Given the description of an element on the screen output the (x, y) to click on. 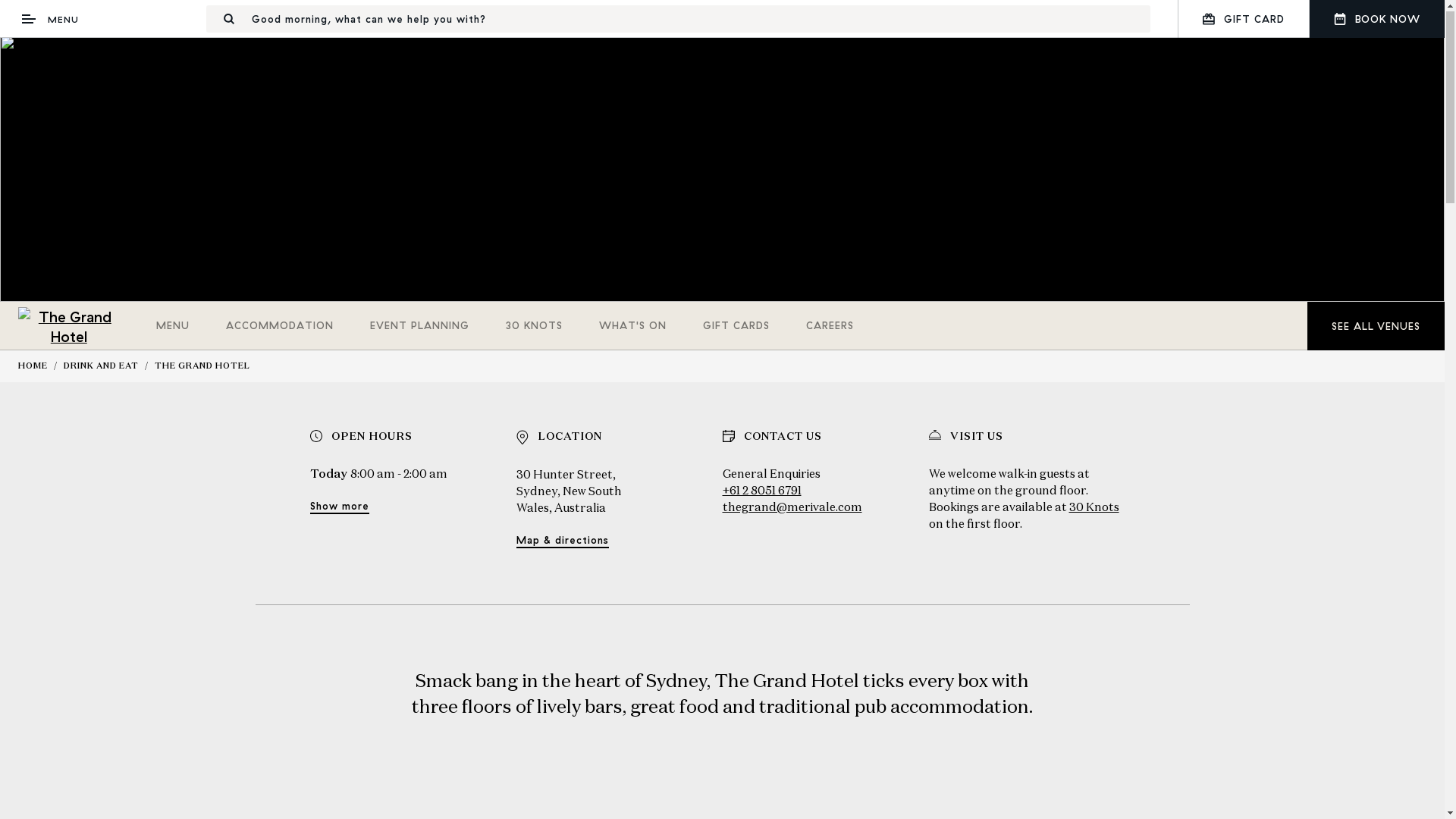
CAREERS Element type: text (829, 328)
+61 2 8051 6791 Element type: text (760, 493)
THE GRAND HOTEL Element type: text (202, 368)
thegrand@merivale.com Element type: text (791, 510)
BOOK NOW Element type: text (1376, 21)
GIFT CARDS Element type: text (735, 328)
WHAT'S ON Element type: text (632, 328)
MENU Element type: text (172, 328)
Map & directions Element type: text (561, 544)
30 KNOTS Element type: text (533, 328)
DRINK AND EAT Element type: text (100, 368)
Good morning, what can we help you with? Element type: text (678, 21)
HOME Element type: text (32, 368)
Show more Element type: text (338, 510)
30 Knots Element type: text (1094, 510)
EVENT PLANNING Element type: text (419, 328)
SEE ALL VENUES Element type: text (1375, 328)
ACCOMMODATION Element type: text (279, 328)
GIFT CARD Element type: text (1243, 21)
MENU Element type: text (50, 21)
